Given the description of an element on the screen output the (x, y) to click on. 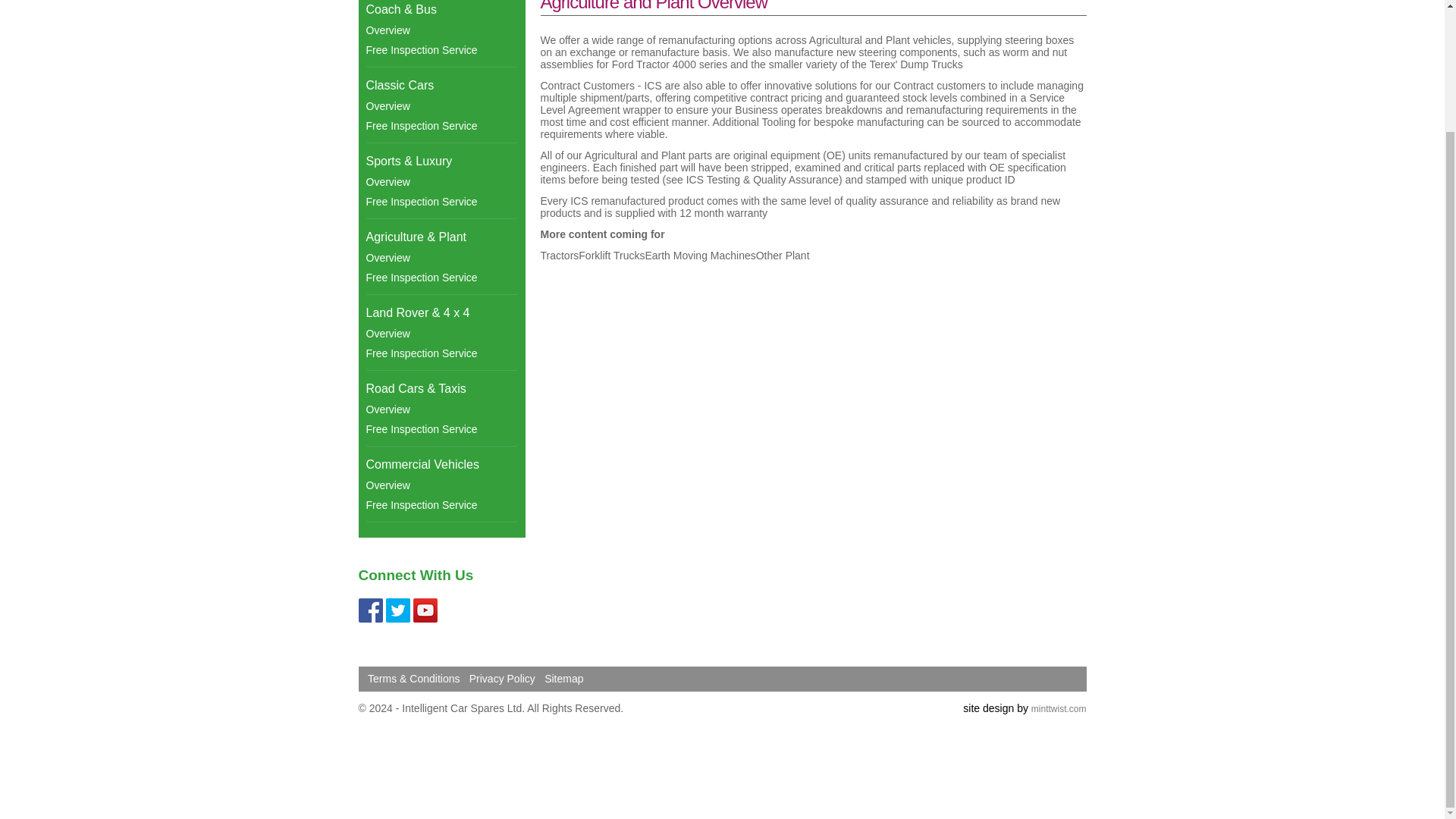
Free Inspection Service (440, 353)
Overview (440, 106)
Overview (440, 181)
Free Inspection Service (440, 125)
Free Inspection Service (440, 201)
Free Inspection Service (440, 277)
Overview (440, 333)
Overview (440, 30)
Overview (440, 257)
Free Inspection Service (440, 49)
